Given the description of an element on the screen output the (x, y) to click on. 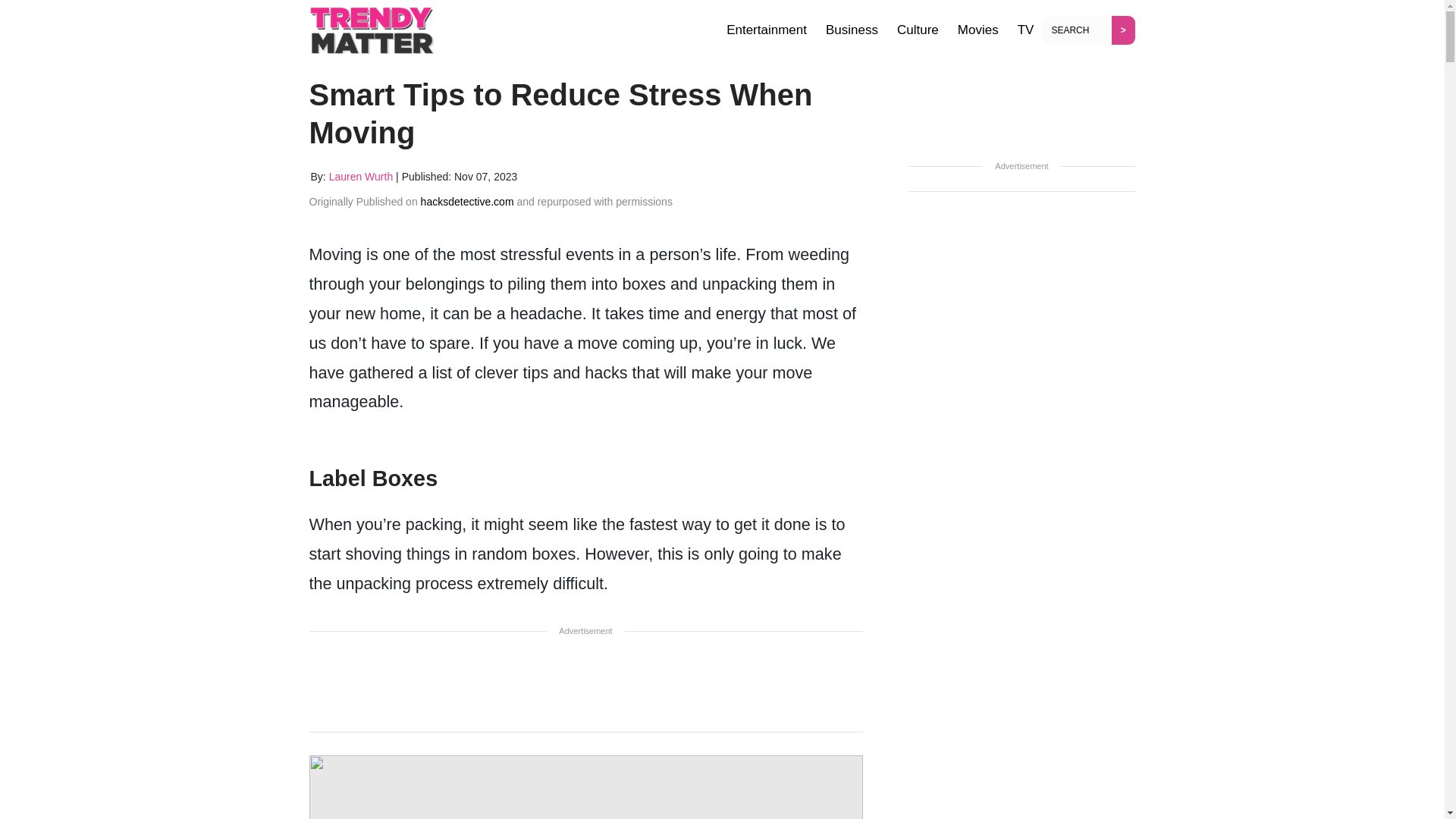
Movies (978, 30)
Culture (917, 30)
Entertainment (766, 30)
hacksdetective.com (466, 201)
Lauren Wurth (361, 176)
Search (1079, 30)
Business (851, 30)
